Given the description of an element on the screen output the (x, y) to click on. 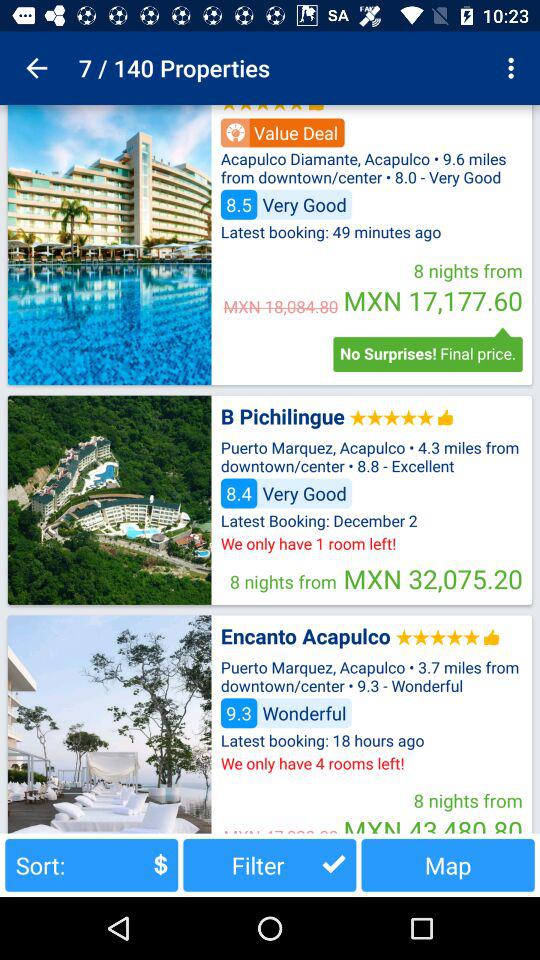
tap the icon next to 7 / 140 properties app (36, 68)
